Given the description of an element on the screen output the (x, y) to click on. 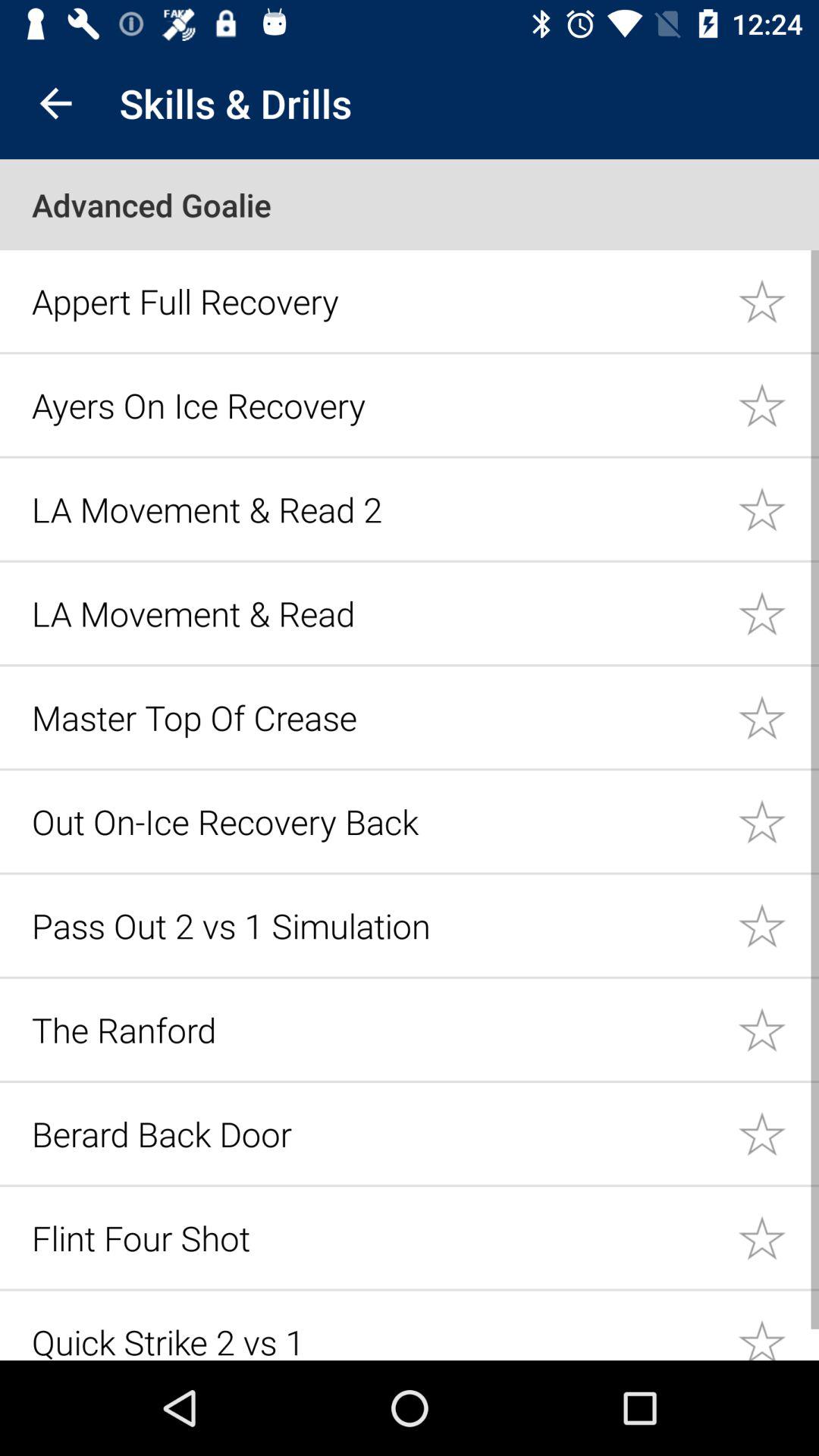
open the icon above the berard back door icon (376, 1029)
